Given the description of an element on the screen output the (x, y) to click on. 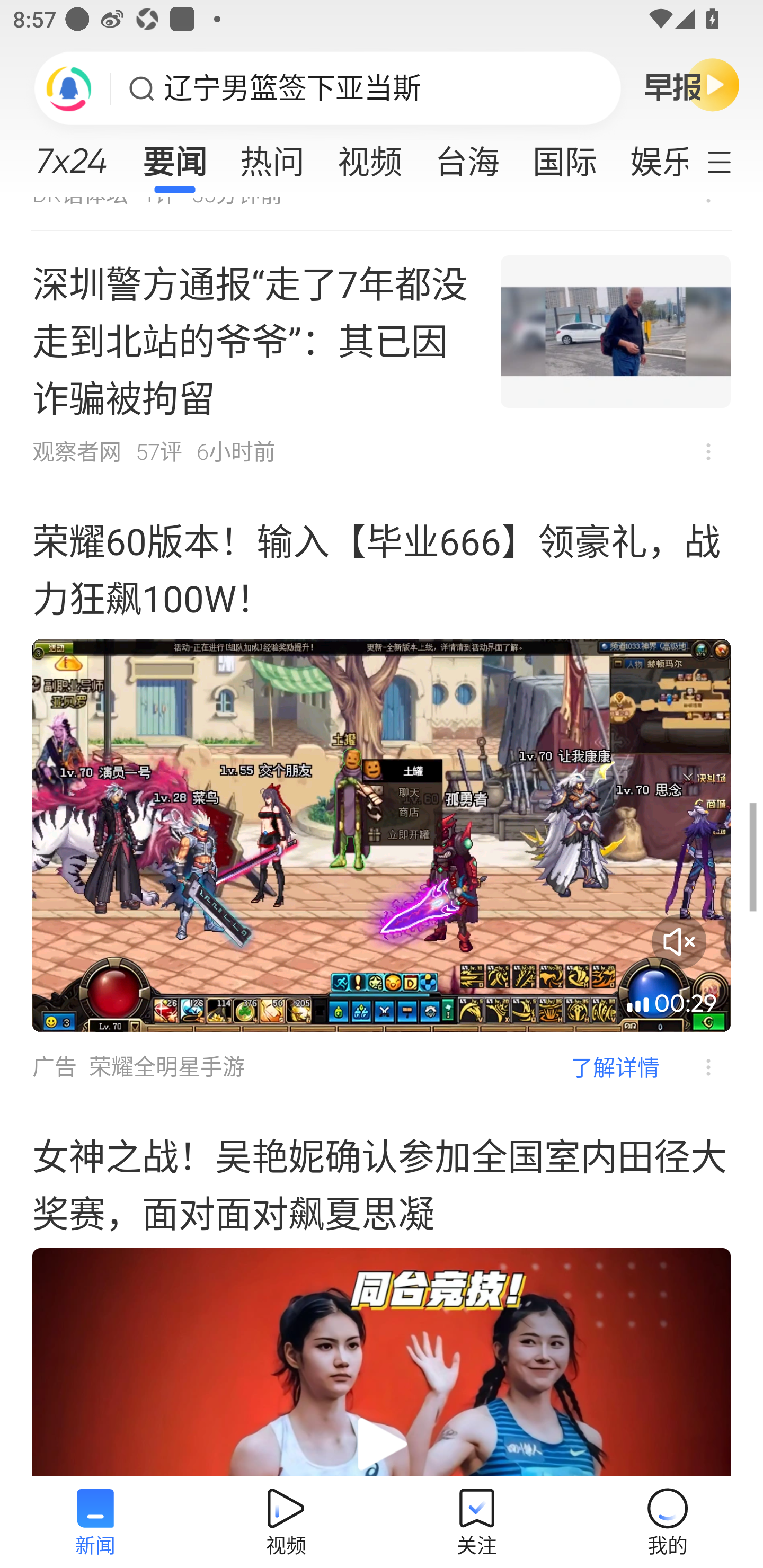
早晚报 (691, 84)
刷新 (68, 88)
辽宁男篮签下亚当斯 (292, 88)
7x24 (70, 154)
要闻 (174, 155)
热问 (272, 155)
视频 (369, 155)
台海 (466, 155)
国际 (564, 155)
娱乐 (650, 155)
 定制频道 (731, 160)
 不感兴趣 (707, 451)
00:29 音量开关 (381, 835)
音量开关 (678, 941)
 不感兴趣 (694, 1066)
了解详情 (614, 1066)
广告 (54, 1066)
荣耀全明星手游 (166, 1066)
女神之战！吴艳妮确认参加全国室内田径大奖赛，面对面对飙夏思凝 (381, 1290)
